Given the description of an element on the screen output the (x, y) to click on. 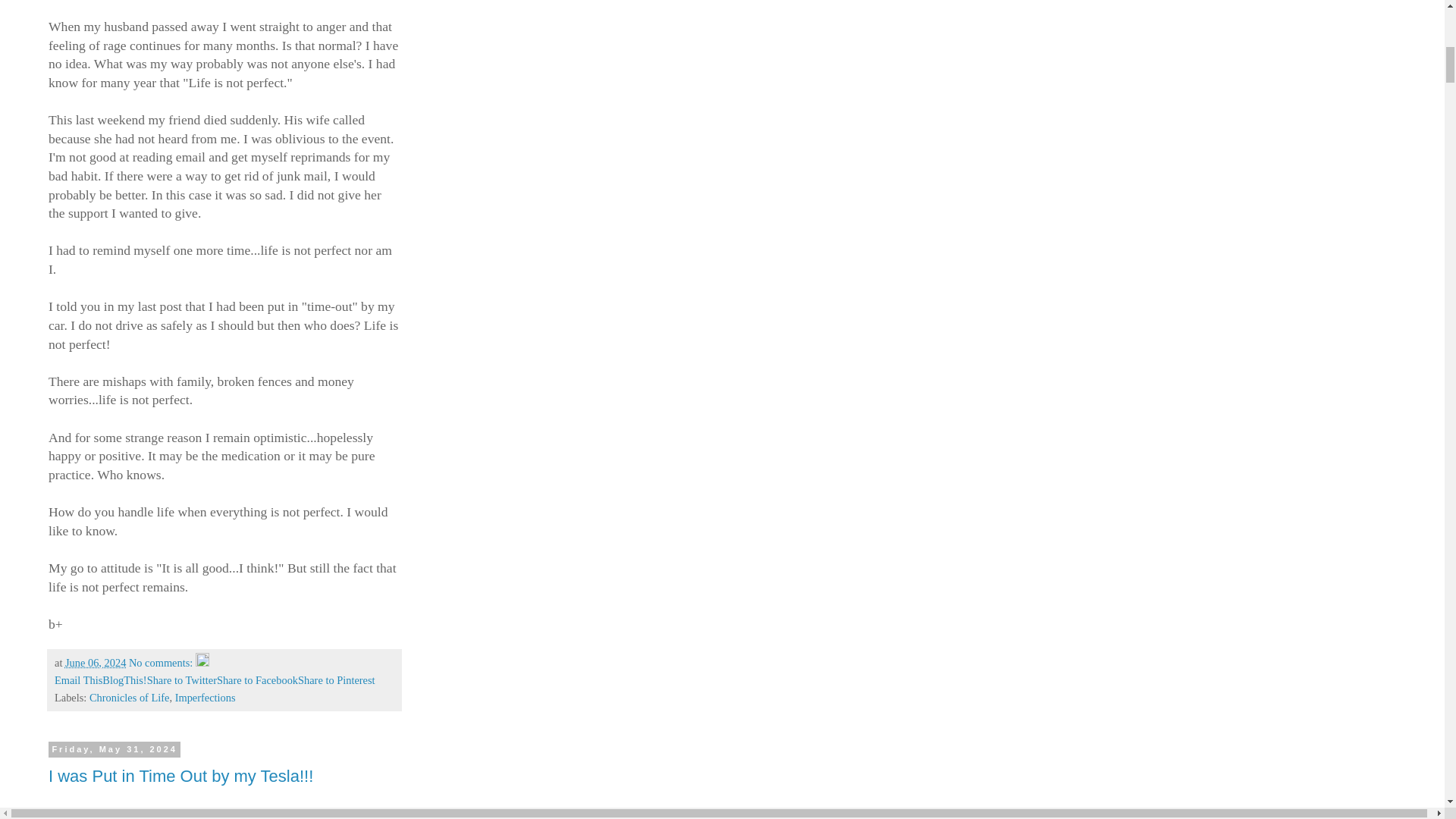
Share to Twitter (181, 680)
permanent link (95, 662)
Email This (78, 680)
Share to Pinterest (336, 680)
Share to Facebook (257, 680)
Email This (78, 680)
BlogThis! (124, 680)
Share to Pinterest (336, 680)
Chronicles of Life (129, 697)
Imperfections (204, 697)
No comments: (162, 662)
Edit Post (202, 662)
I was Put in Time Out by my Tesla!!! (180, 775)
BlogThis! (124, 680)
June 06, 2024 (95, 662)
